Given the description of an element on the screen output the (x, y) to click on. 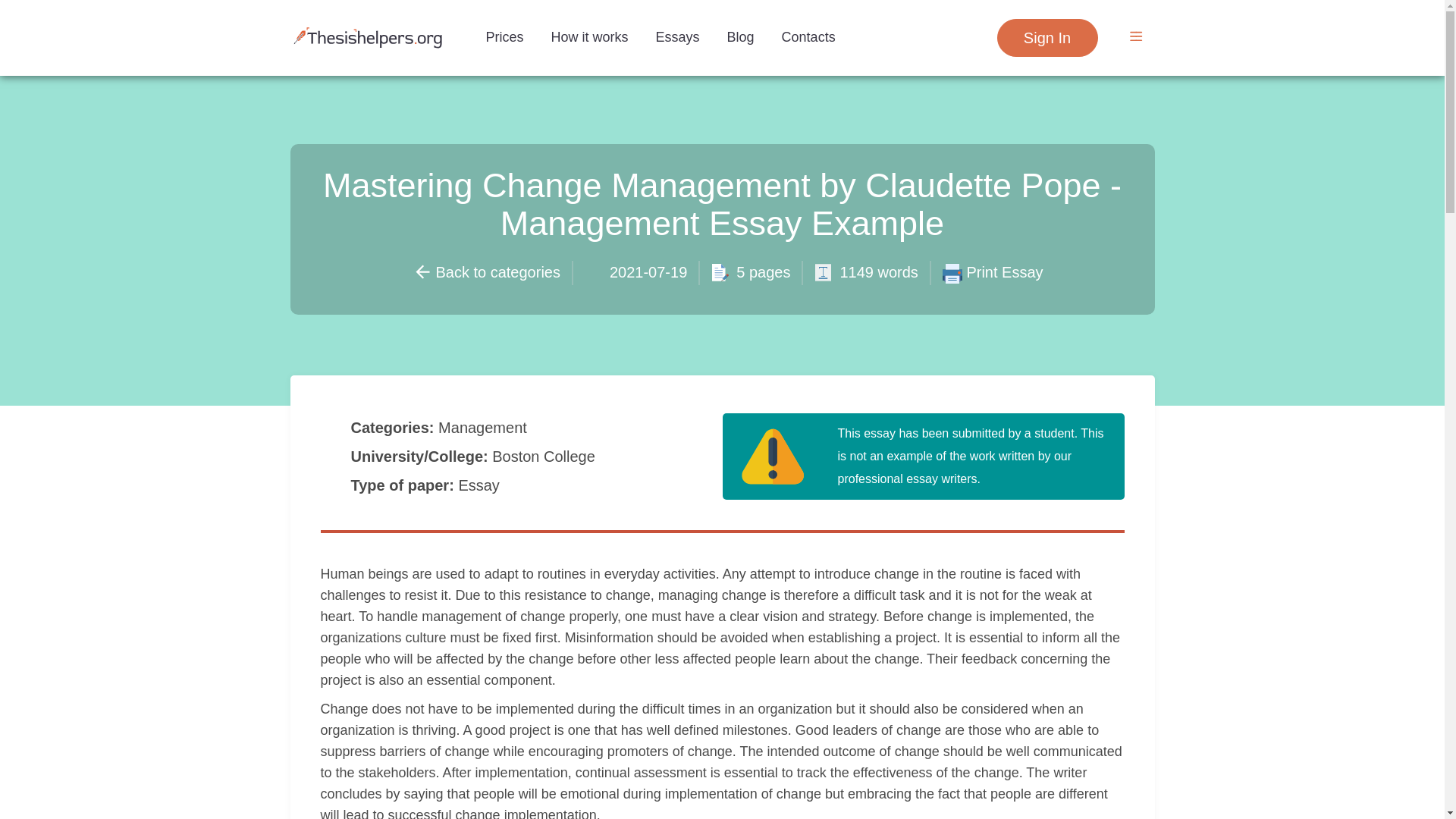
Back to categories (486, 272)
How it works (589, 37)
Prices (504, 37)
Contacts (808, 37)
Essays (677, 37)
Blog (740, 37)
Management  (484, 427)
